Given the description of an element on the screen output the (x, y) to click on. 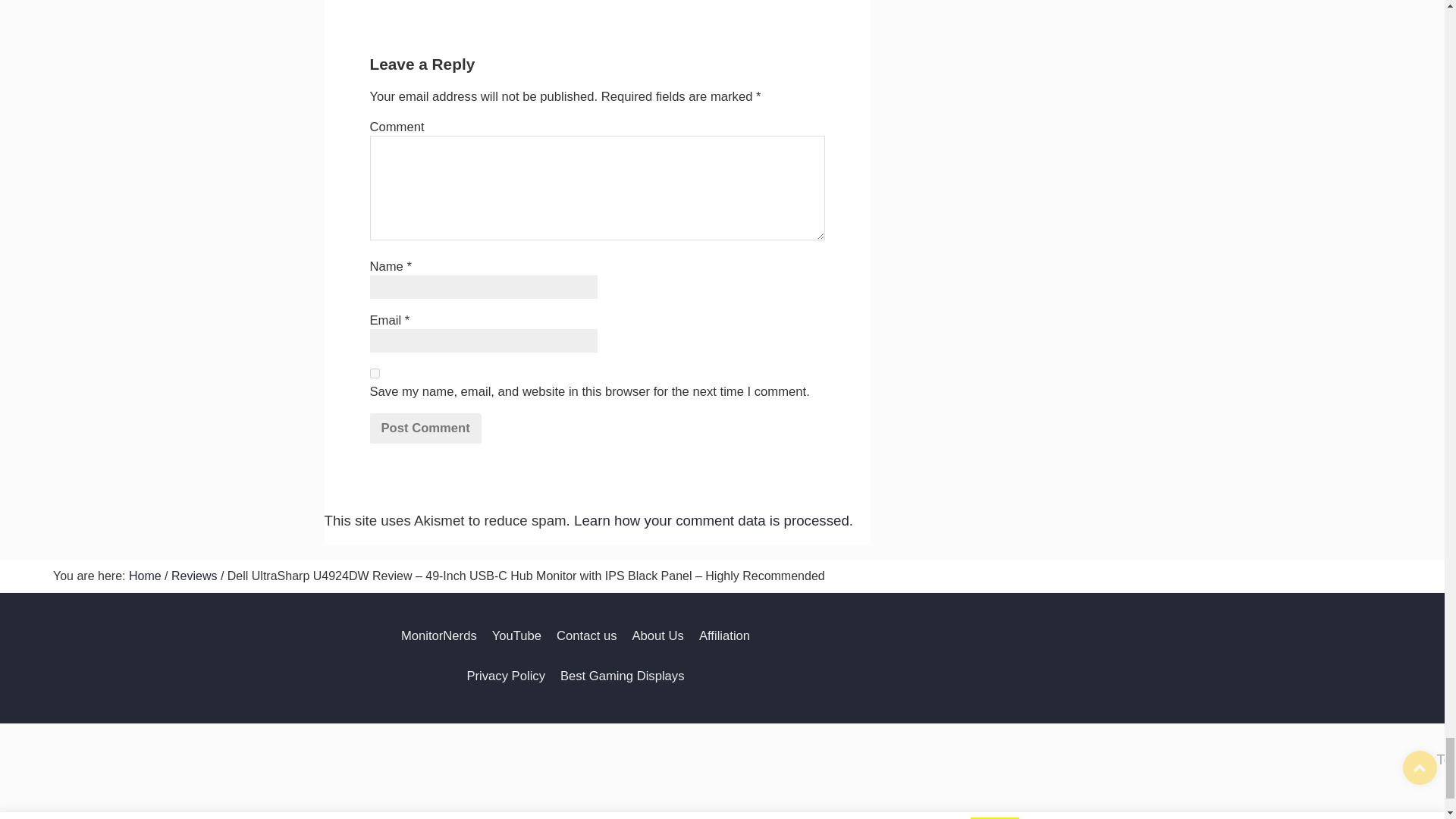
Post Comment (425, 428)
Learn how your comment data is processed (710, 520)
Post Comment (425, 428)
yes (374, 373)
